Given the description of an element on the screen output the (x, y) to click on. 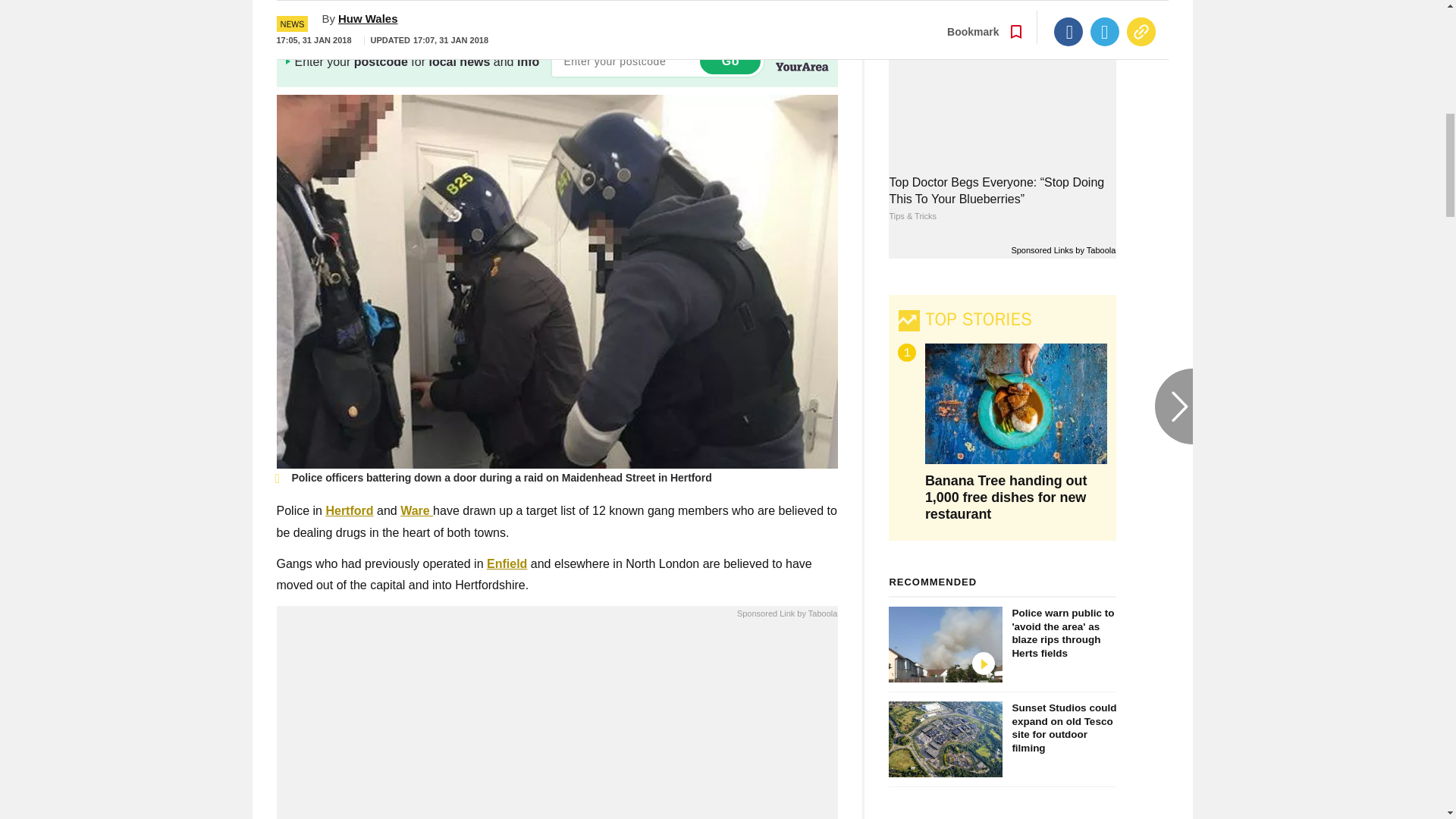
Go (730, 60)
Facebook (1068, 2)
Twitter (1104, 2)
Embarrassing moments captured by a drone (557, 723)
